Given the description of an element on the screen output the (x, y) to click on. 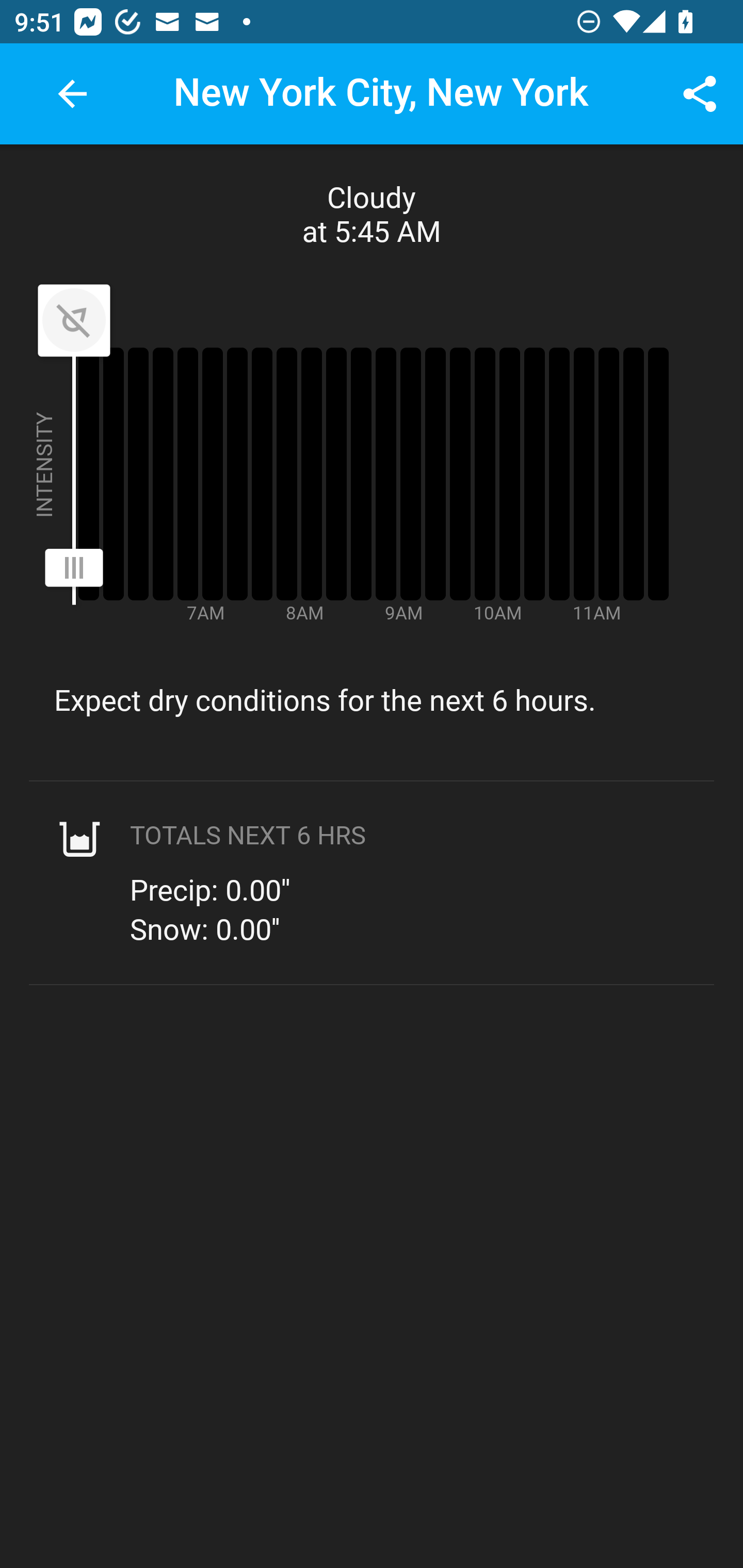
back (71, 93)
Share (699, 93)
